Given the description of an element on the screen output the (x, y) to click on. 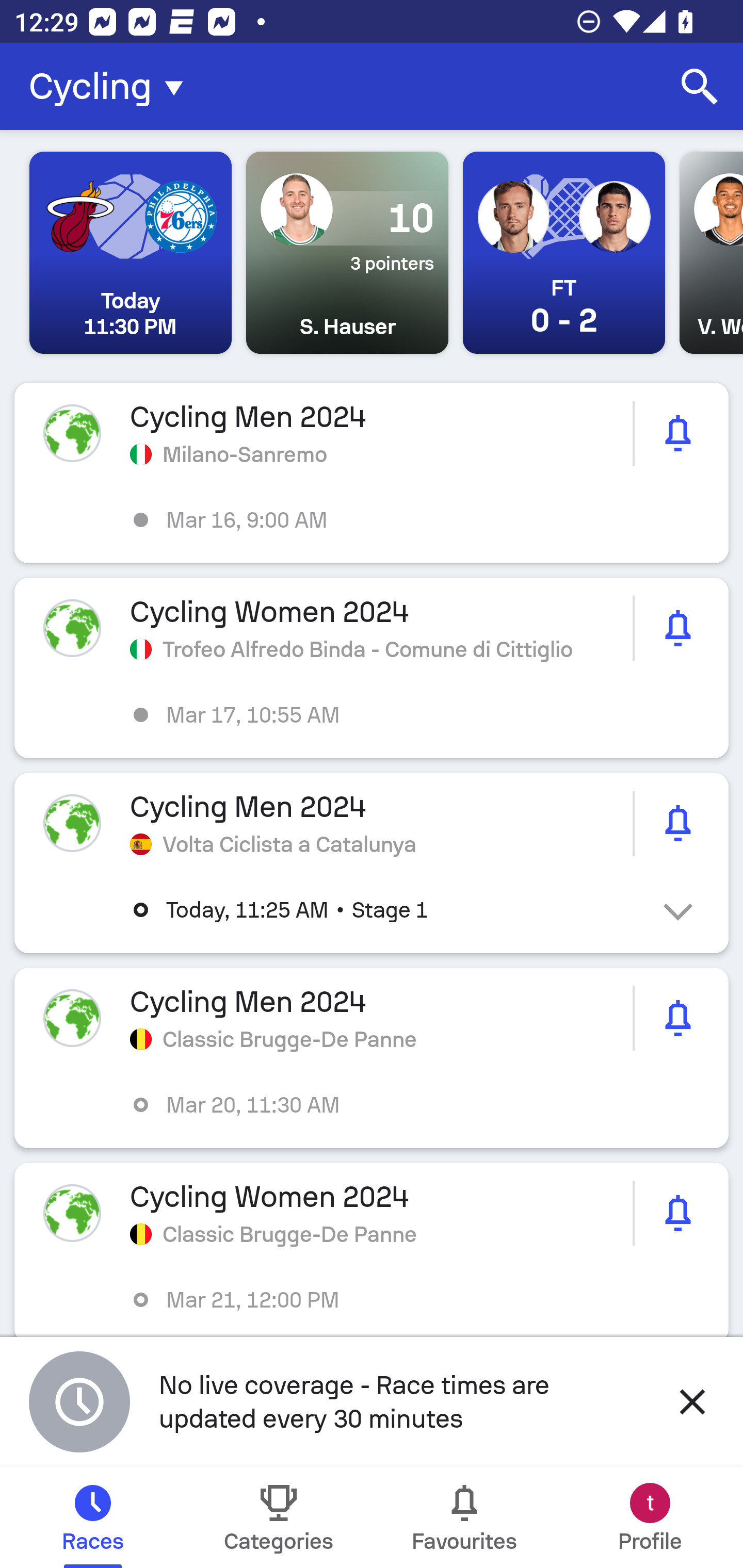
Cycling (111, 86)
Search (699, 86)
Today
11:30 PM (130, 253)
FT 0 - 2 (563, 253)
Today, 11:25 AM • Stage 1 (385, 910)
Categories (278, 1517)
Favourites (464, 1517)
Profile (650, 1517)
